Given the description of an element on the screen output the (x, y) to click on. 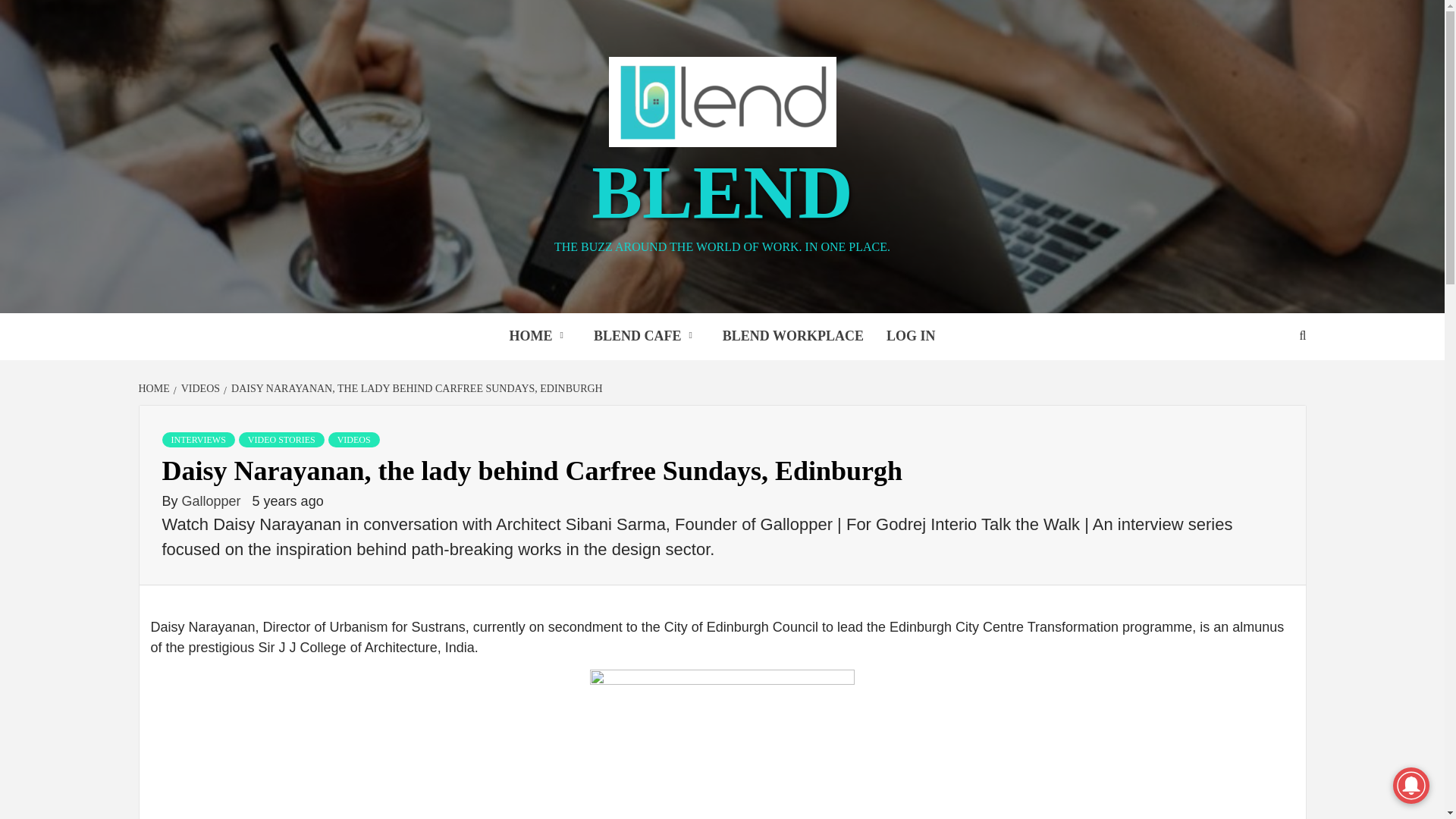
LOG IN (911, 336)
BLEND WORKPLACE (793, 336)
DAISY NARAYANAN, THE LADY BEHIND CARFREE SUNDAYS, EDINBURGH (415, 388)
BLEND (722, 191)
YouTube player (721, 770)
VIDEOS (198, 388)
Gallopper (213, 500)
VIDEO STORIES (281, 439)
INTERVIEWS (197, 439)
BLEND CAFE (646, 336)
HOME (538, 336)
HOME (155, 388)
VIDEOS (354, 439)
